Given the description of an element on the screen output the (x, y) to click on. 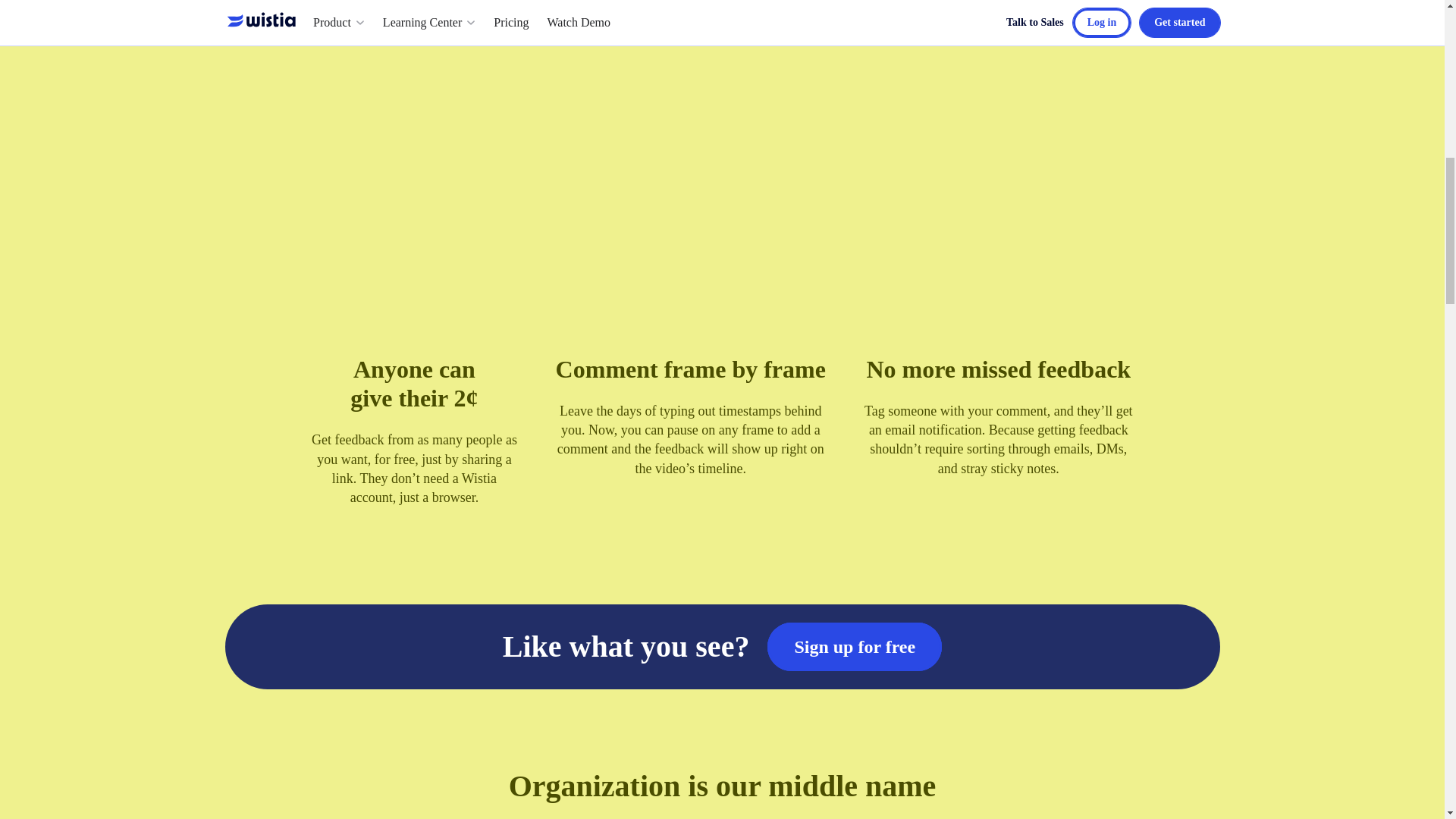
Sign up for free (854, 646)
